Given the description of an element on the screen output the (x, y) to click on. 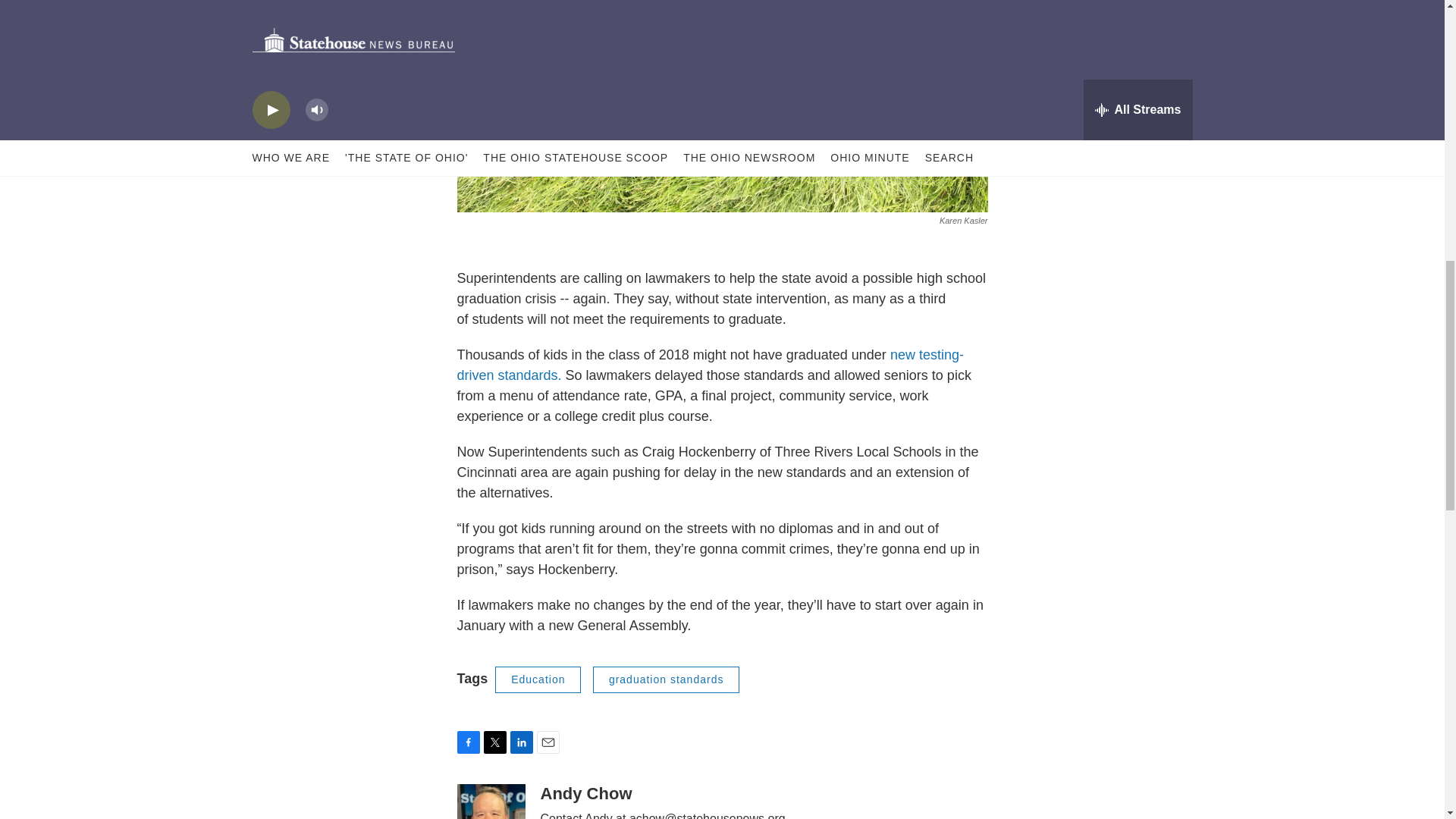
new testing-driven standards. (709, 365)
graduation standards (665, 679)
Education (537, 679)
Facebook (468, 742)
